Given the description of an element on the screen output the (x, y) to click on. 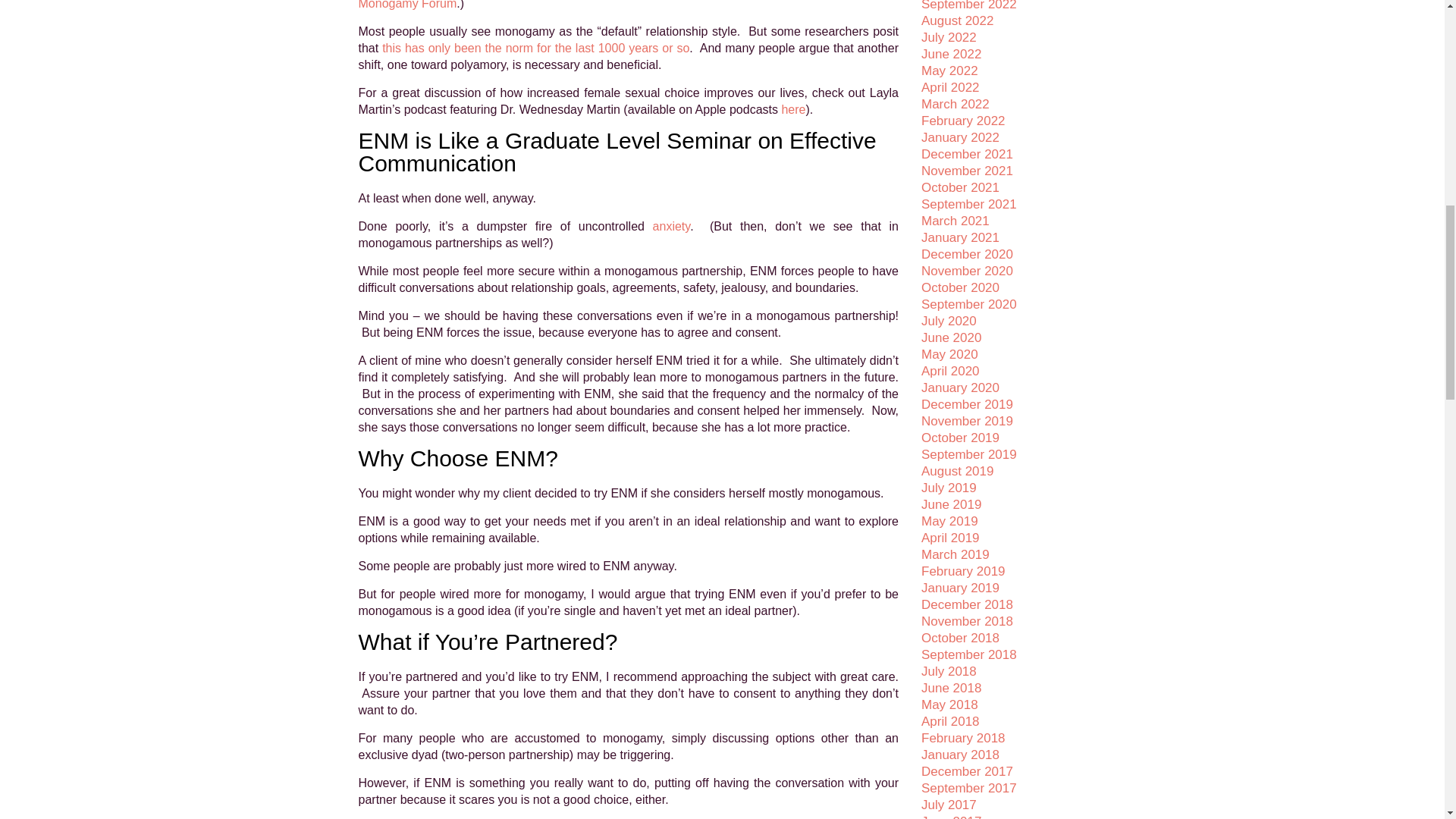
Ethical Non Monogamy Forum (628, 4)
this has only been the norm for the last 1000 years or so (534, 47)
here (792, 109)
anxiety (671, 226)
